Given the description of an element on the screen output the (x, y) to click on. 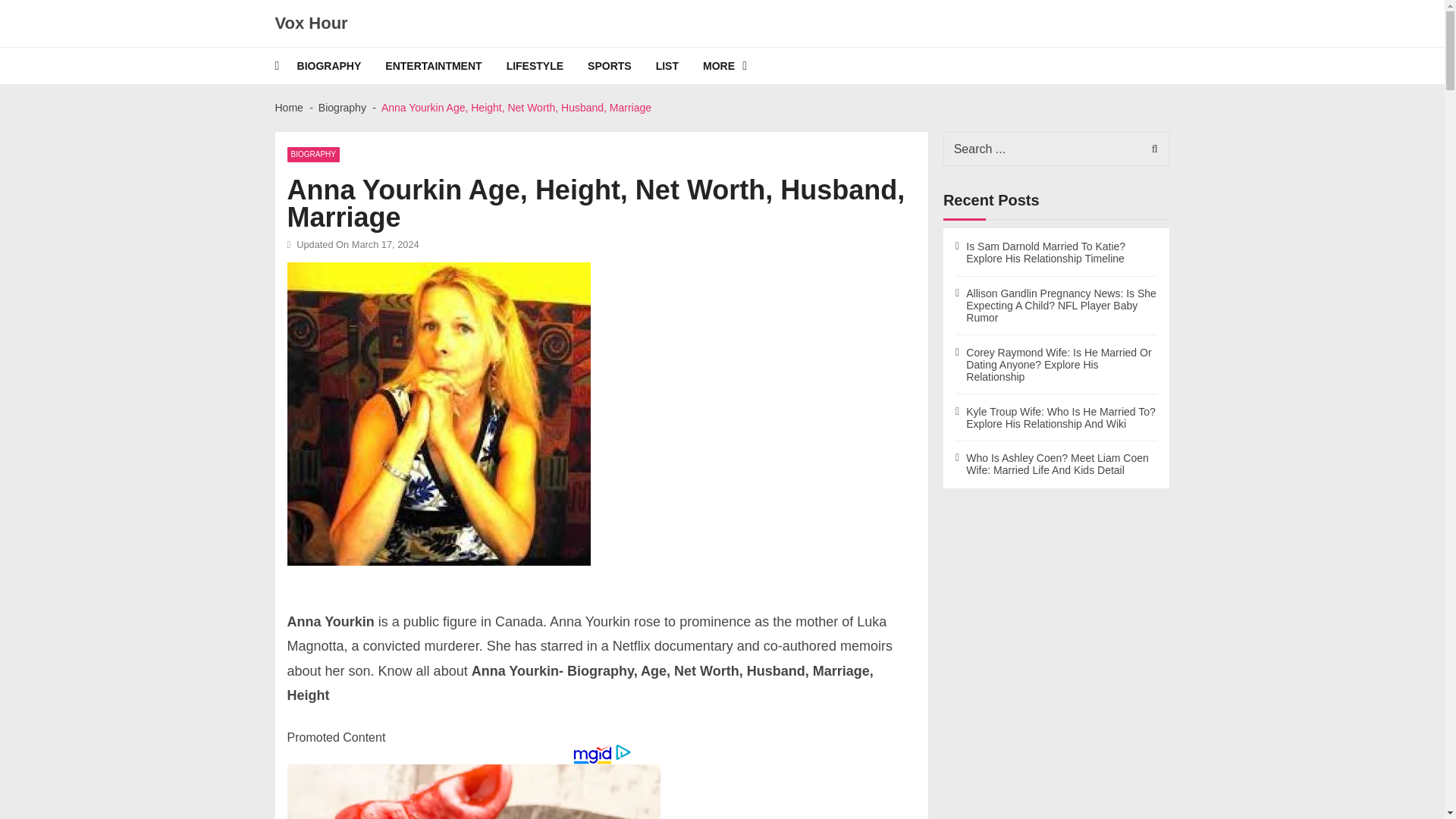
Search (1150, 148)
Vox Hour (311, 23)
SPORTS (622, 65)
BIOGRAPHY (312, 154)
LIFESTYLE (547, 65)
Search (1150, 148)
Home (288, 107)
ENTERTAINTMENT (445, 65)
BIOGRAPHY (341, 65)
LIST (679, 65)
